Given the description of an element on the screen output the (x, y) to click on. 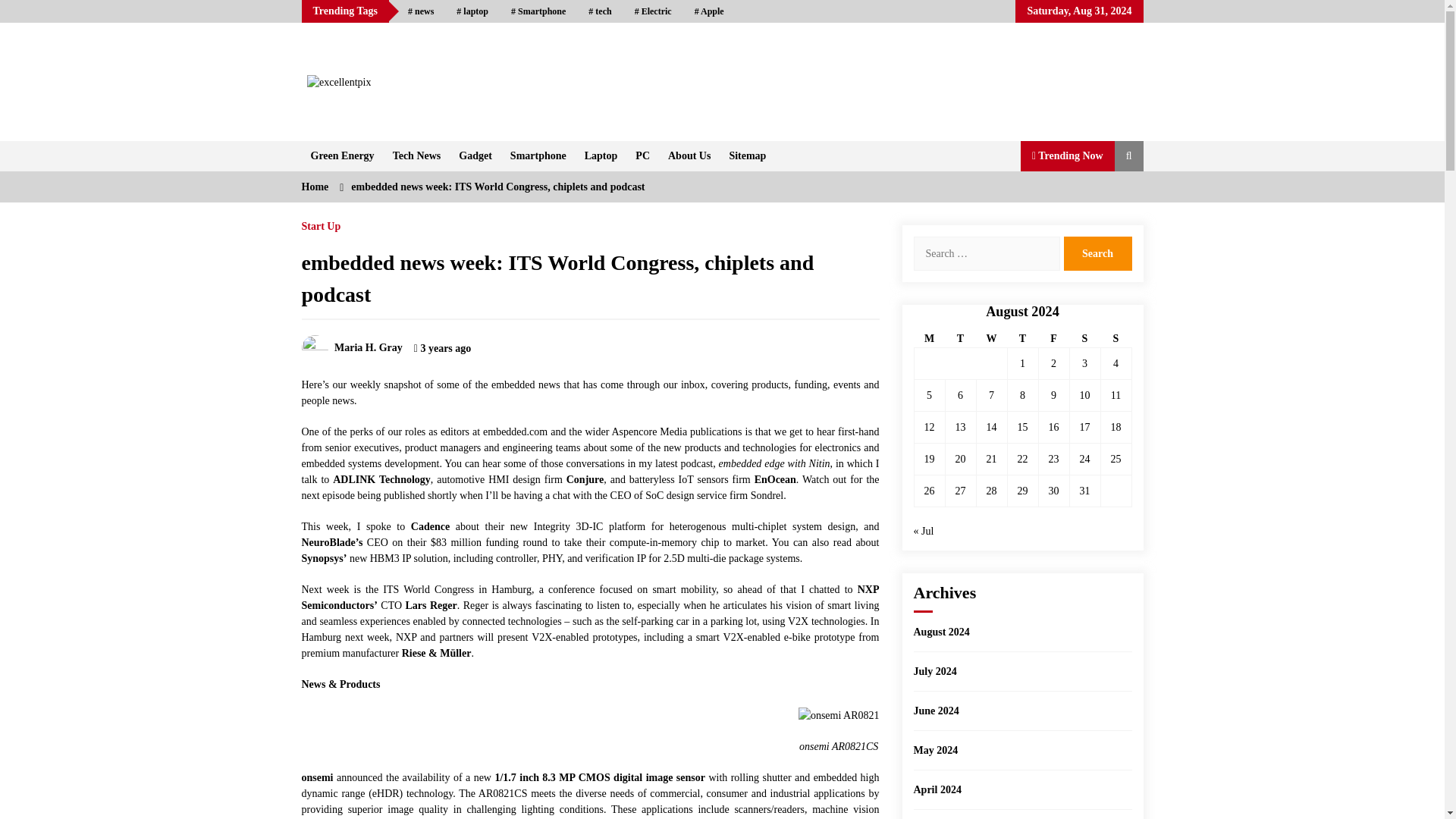
Tech News (416, 155)
Monday (929, 339)
Saturday (1084, 339)
Green Energy (342, 155)
PC (642, 155)
Laptop (601, 155)
news (420, 11)
Smartphone (537, 11)
Gadget (474, 155)
Electric (652, 11)
